Given the description of an element on the screen output the (x, y) to click on. 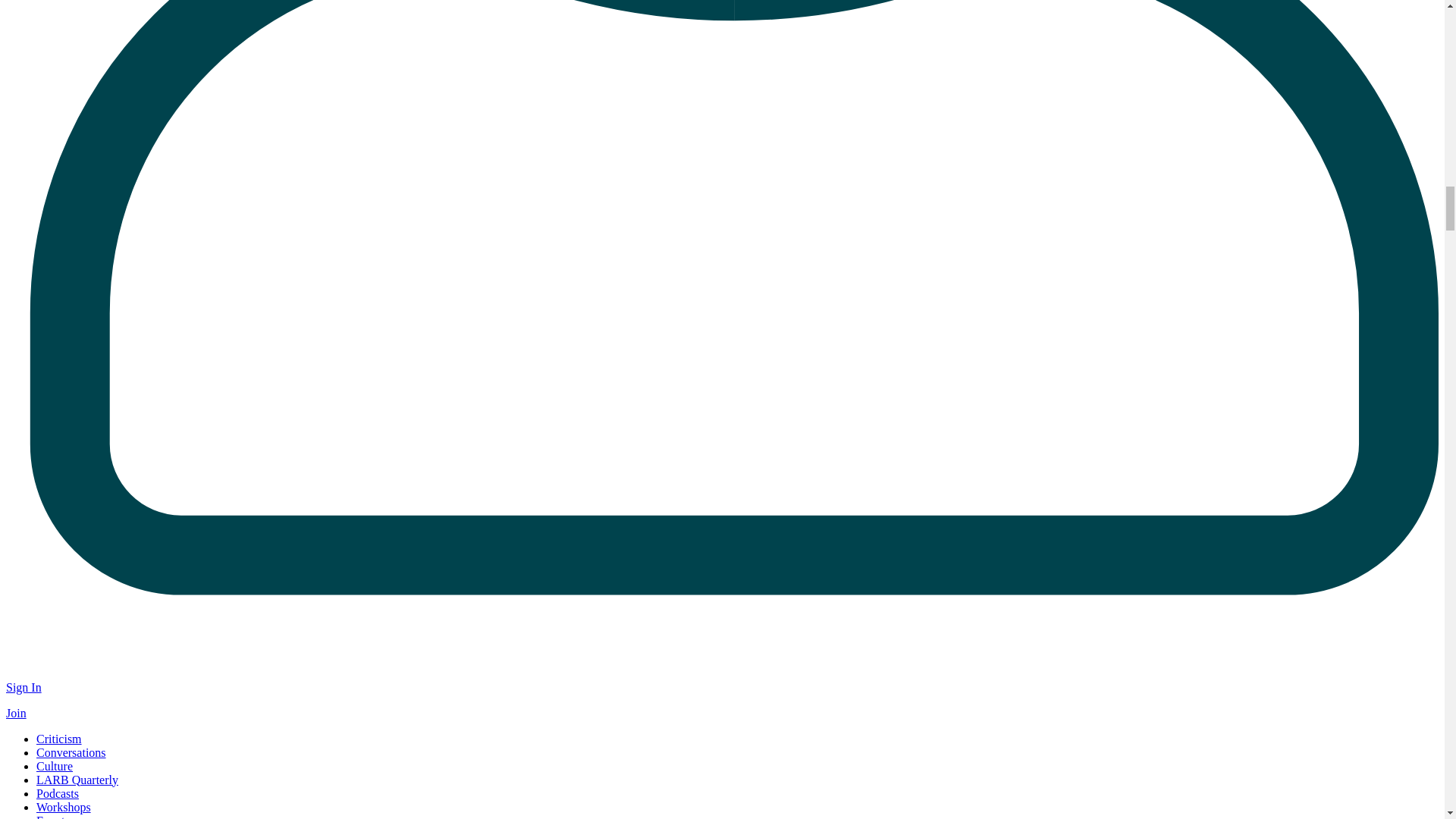
Workshops (63, 807)
Criticism (58, 738)
Events (52, 816)
Culture (54, 766)
Conversations (71, 752)
Podcasts (57, 793)
Sign In (23, 686)
LARB Quarterly (76, 779)
